Given the description of an element on the screen output the (x, y) to click on. 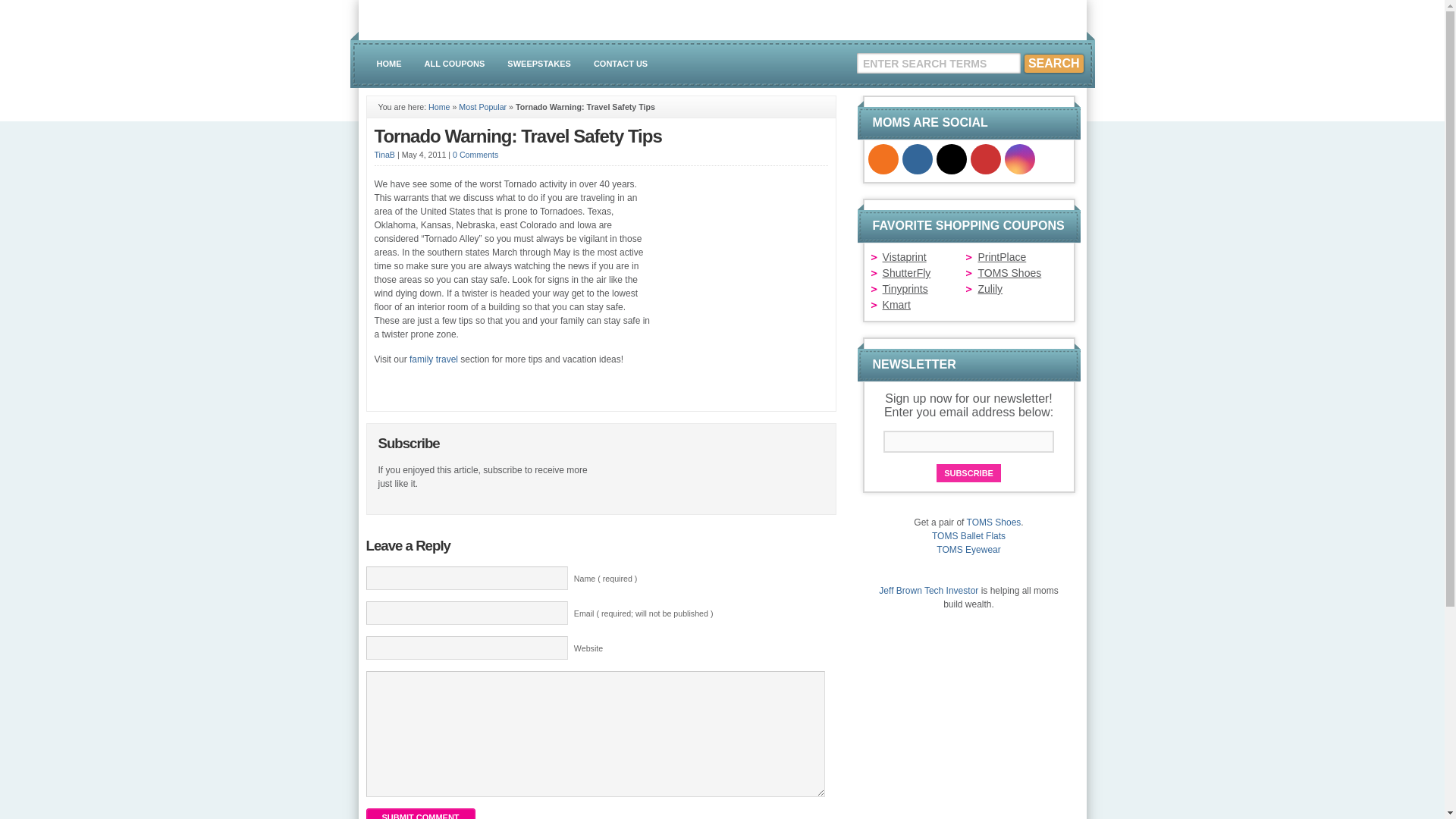
Comments for Tornado Warning: Travel Safety Tips (474, 153)
Enter Search Terms (938, 63)
SWEEPSTAKES (539, 63)
Submit Comment (419, 813)
HOME (389, 63)
Submit Comment (419, 813)
family travel (433, 358)
Posts by TinaB (384, 153)
